Given the description of an element on the screen output the (x, y) to click on. 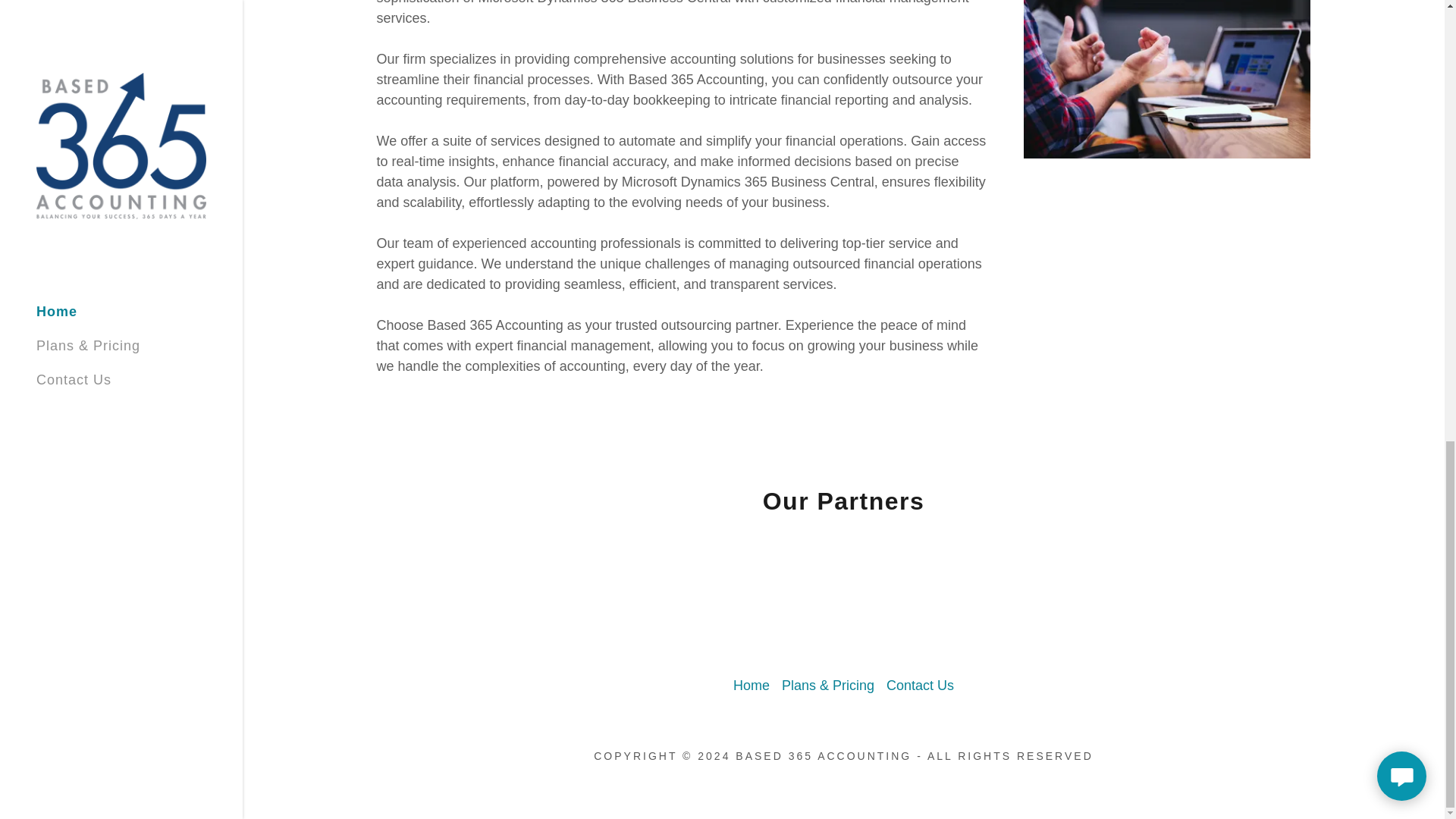
Contact Us (919, 685)
ACCEPT (1274, 182)
Home (751, 685)
